Given the description of an element on the screen output the (x, y) to click on. 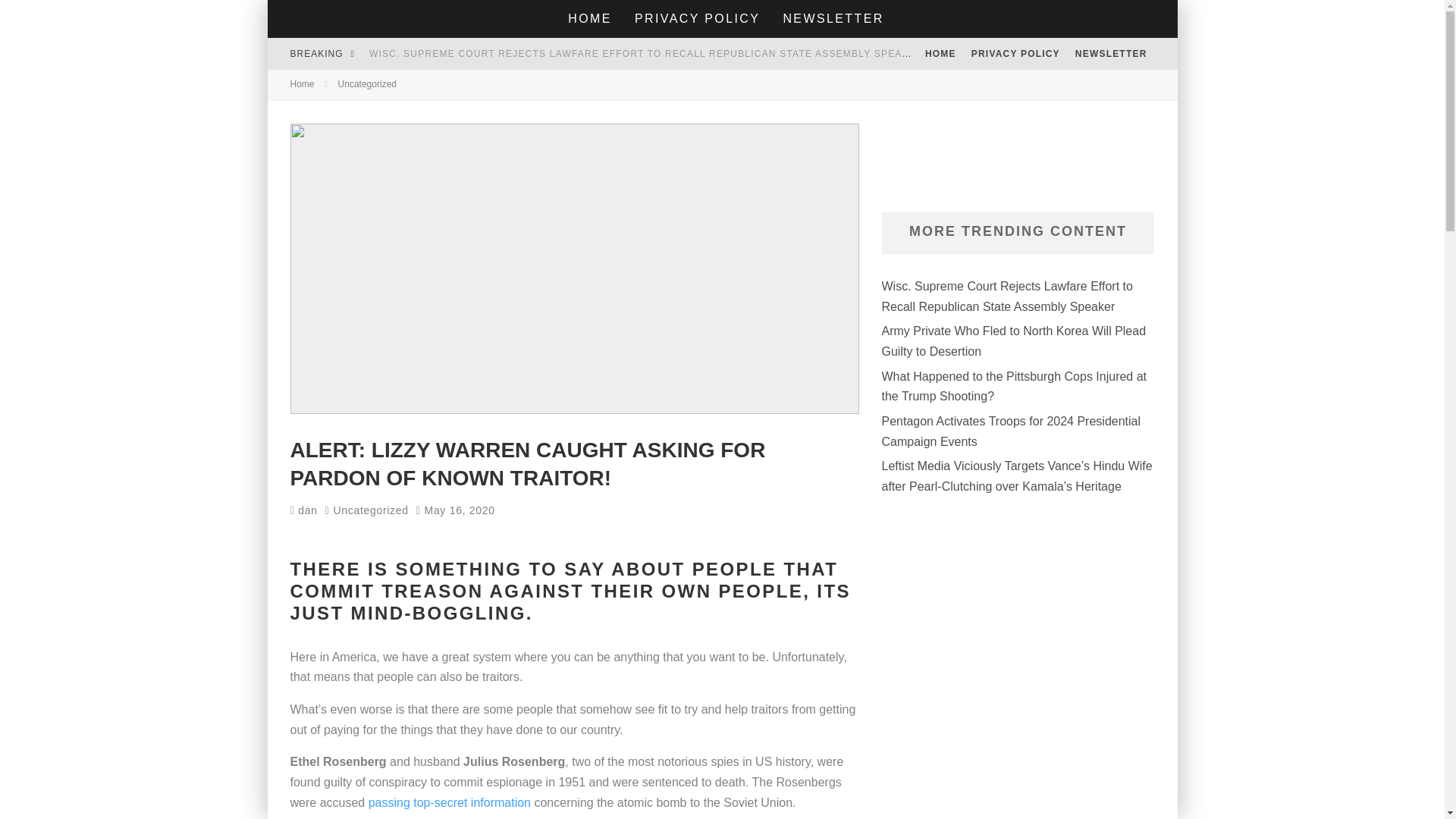
PRIVACY POLICY (1015, 53)
PRIVACY POLICY (697, 18)
NEWSLETTER (833, 18)
HOME (940, 53)
Uncategorized (370, 509)
Home (301, 83)
passing top-secret information (449, 802)
